Given the description of an element on the screen output the (x, y) to click on. 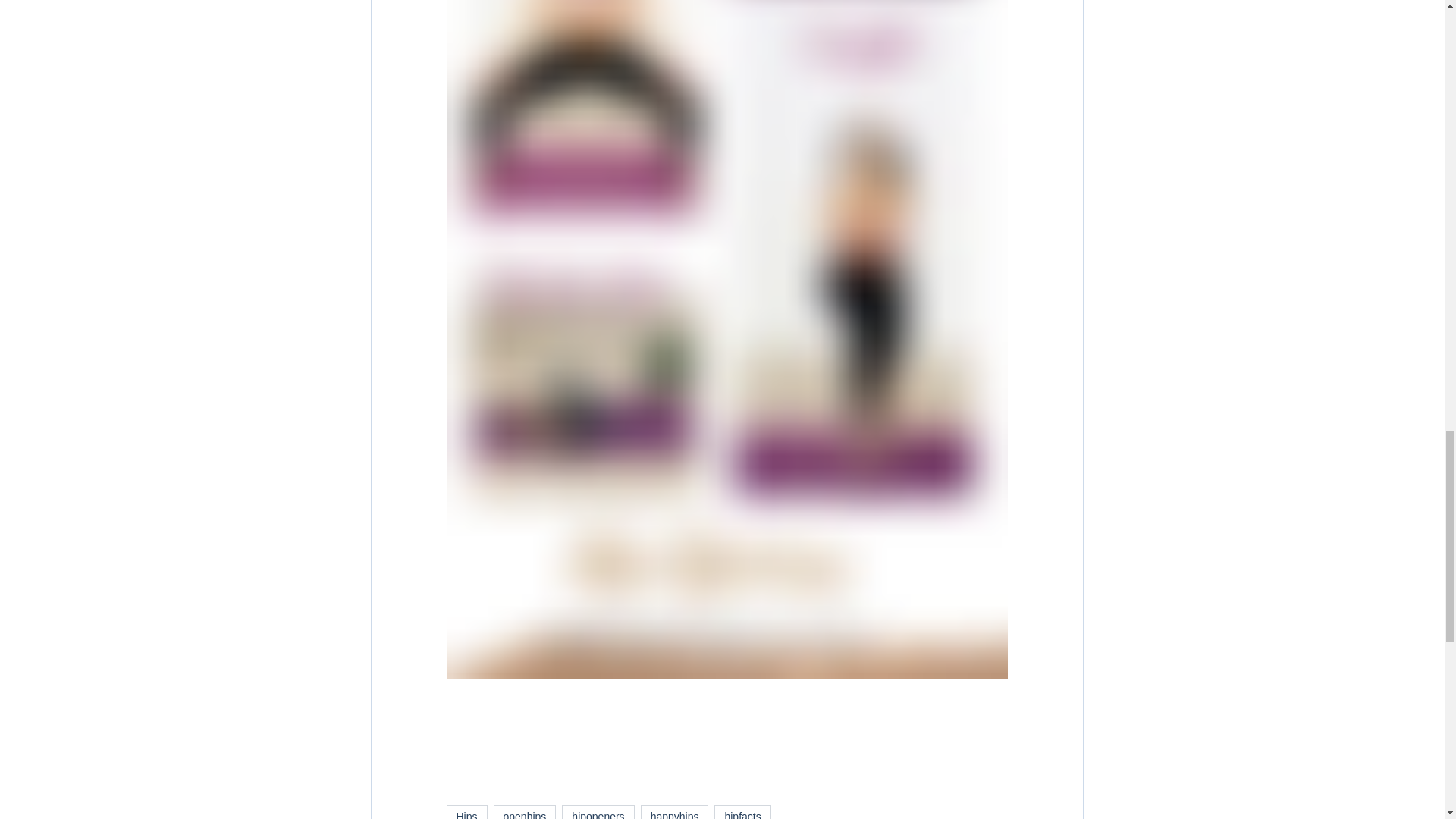
Hips (465, 812)
hipopeners (597, 812)
happyhips (674, 812)
openhips (524, 812)
hipfacts (742, 812)
